Given the description of an element on the screen output the (x, y) to click on. 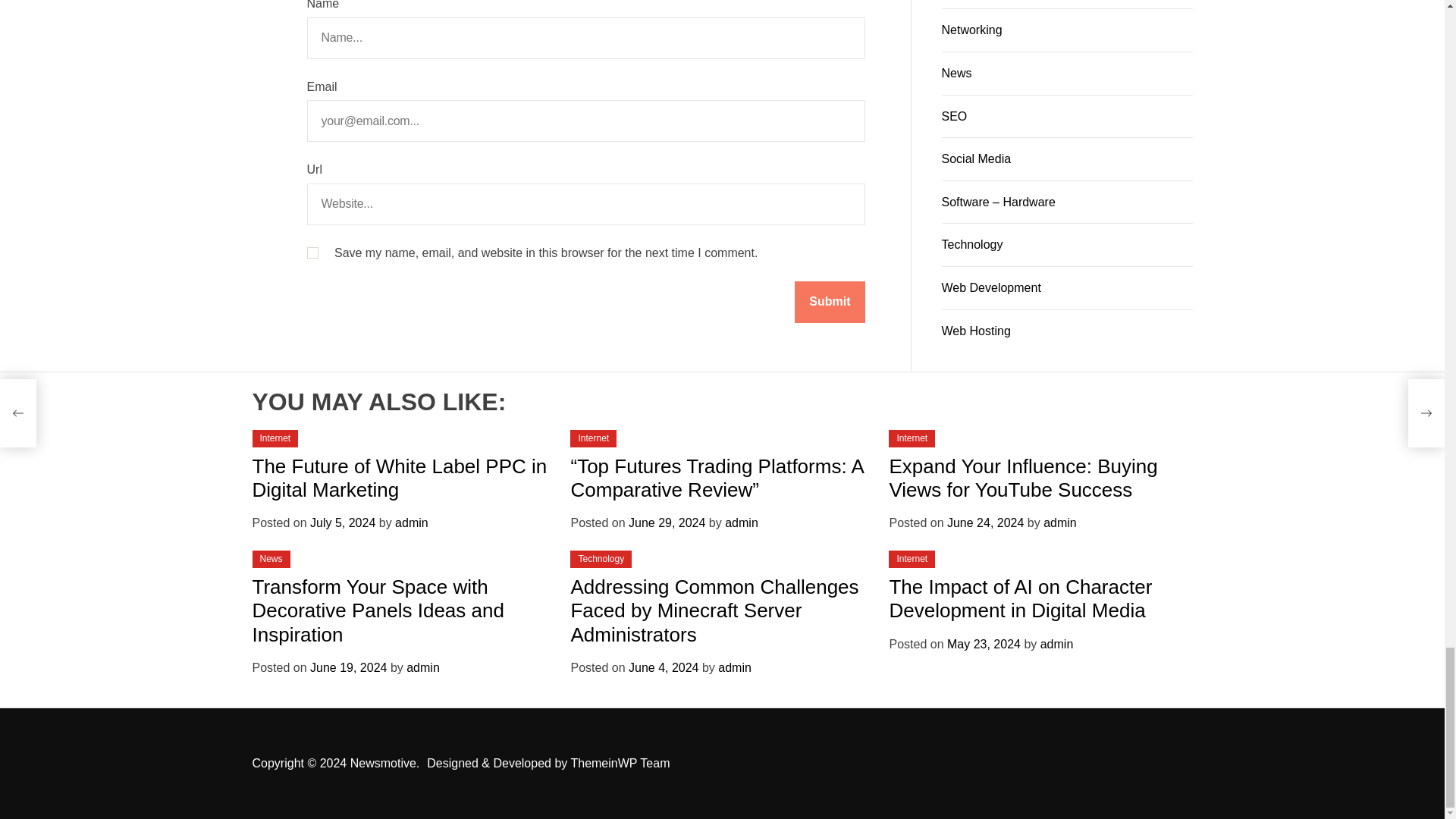
Submit (829, 301)
yes (311, 252)
Submit (829, 301)
